Given the description of an element on the screen output the (x, y) to click on. 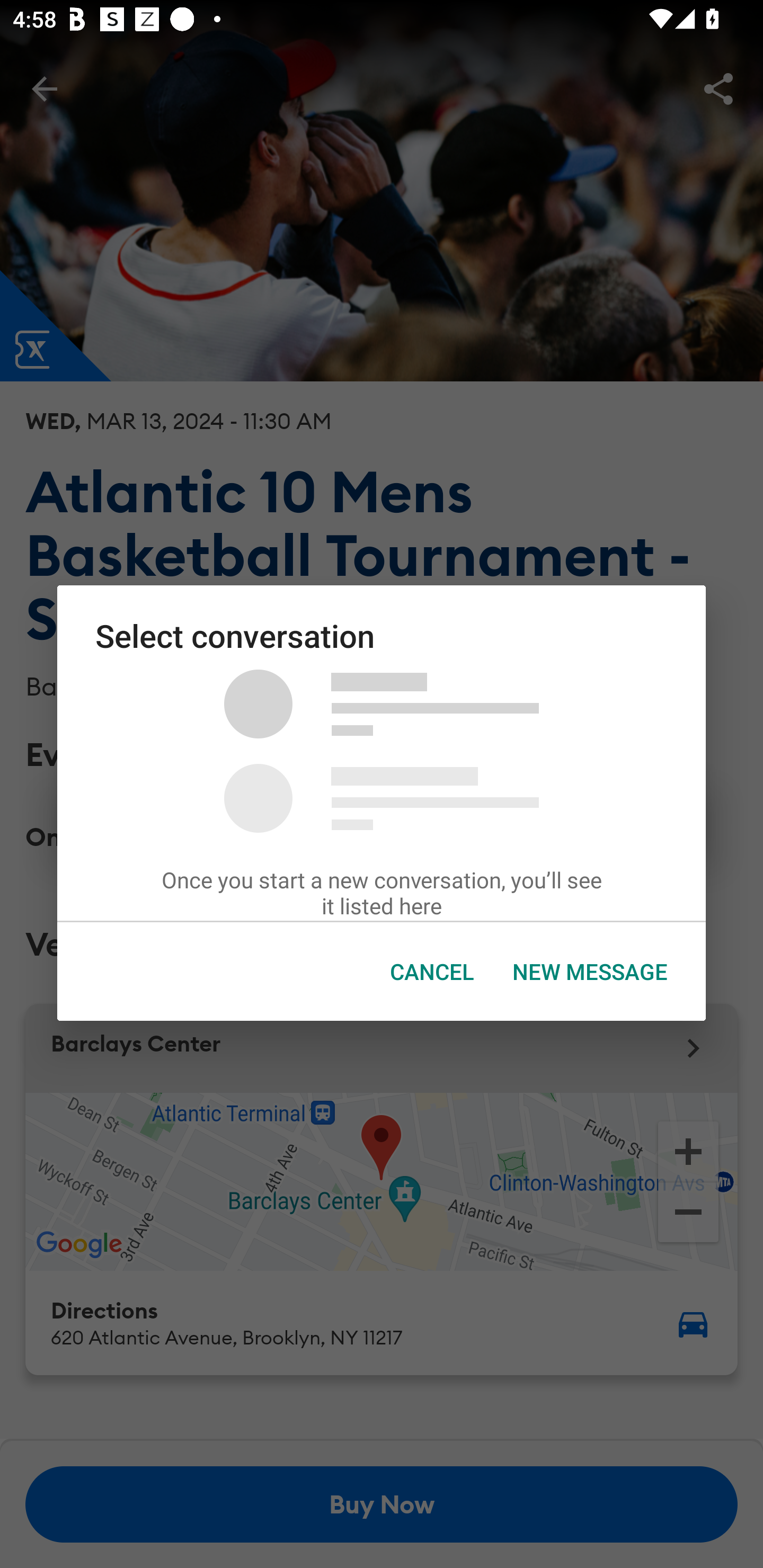
CANCEL (431, 971)
NEW MESSAGE (589, 971)
